Given the description of an element on the screen output the (x, y) to click on. 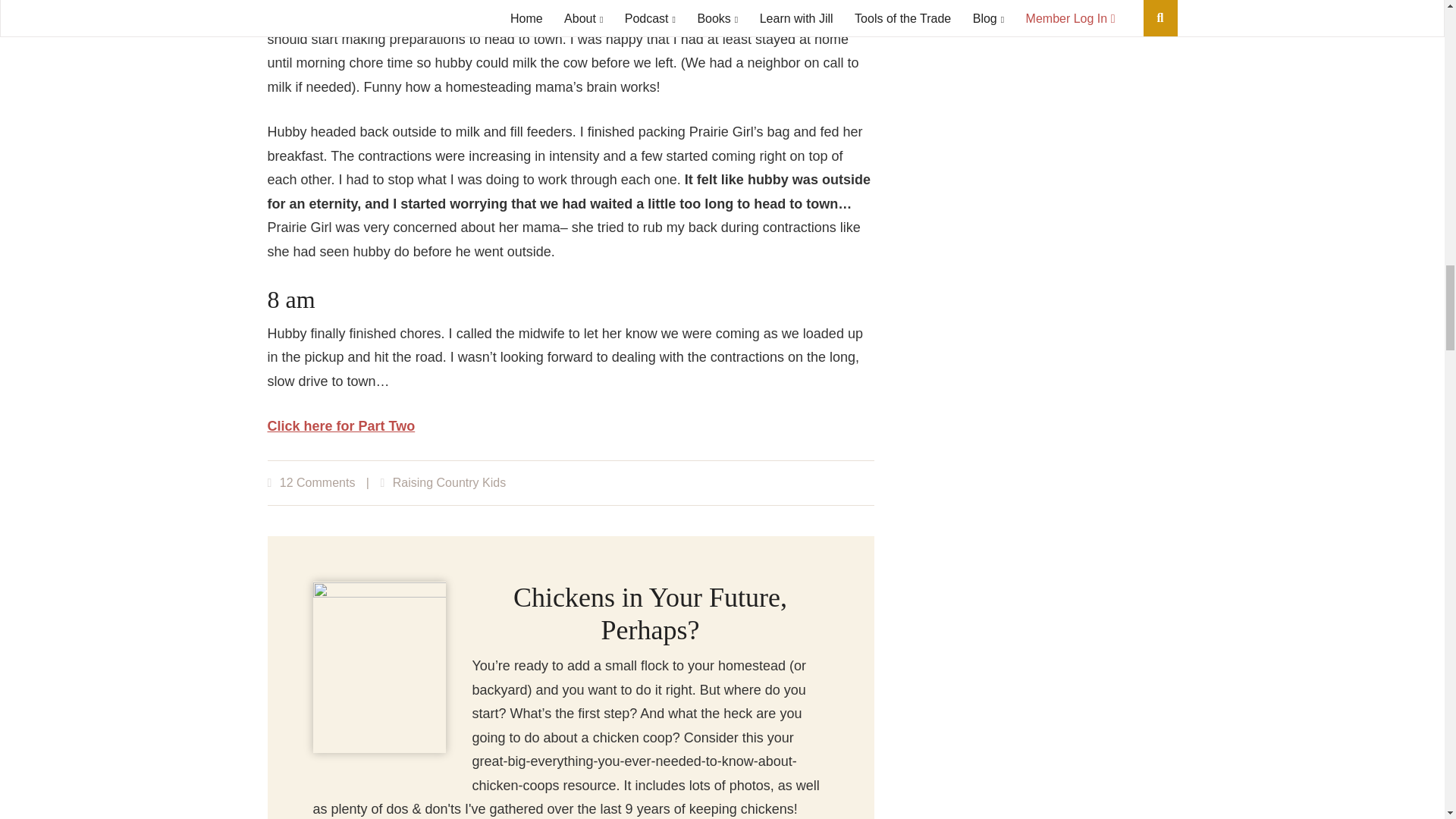
Click here for Part Two (340, 426)
Raising Country Kids (449, 481)
12 Comments (317, 481)
